Given the description of an element on the screen output the (x, y) to click on. 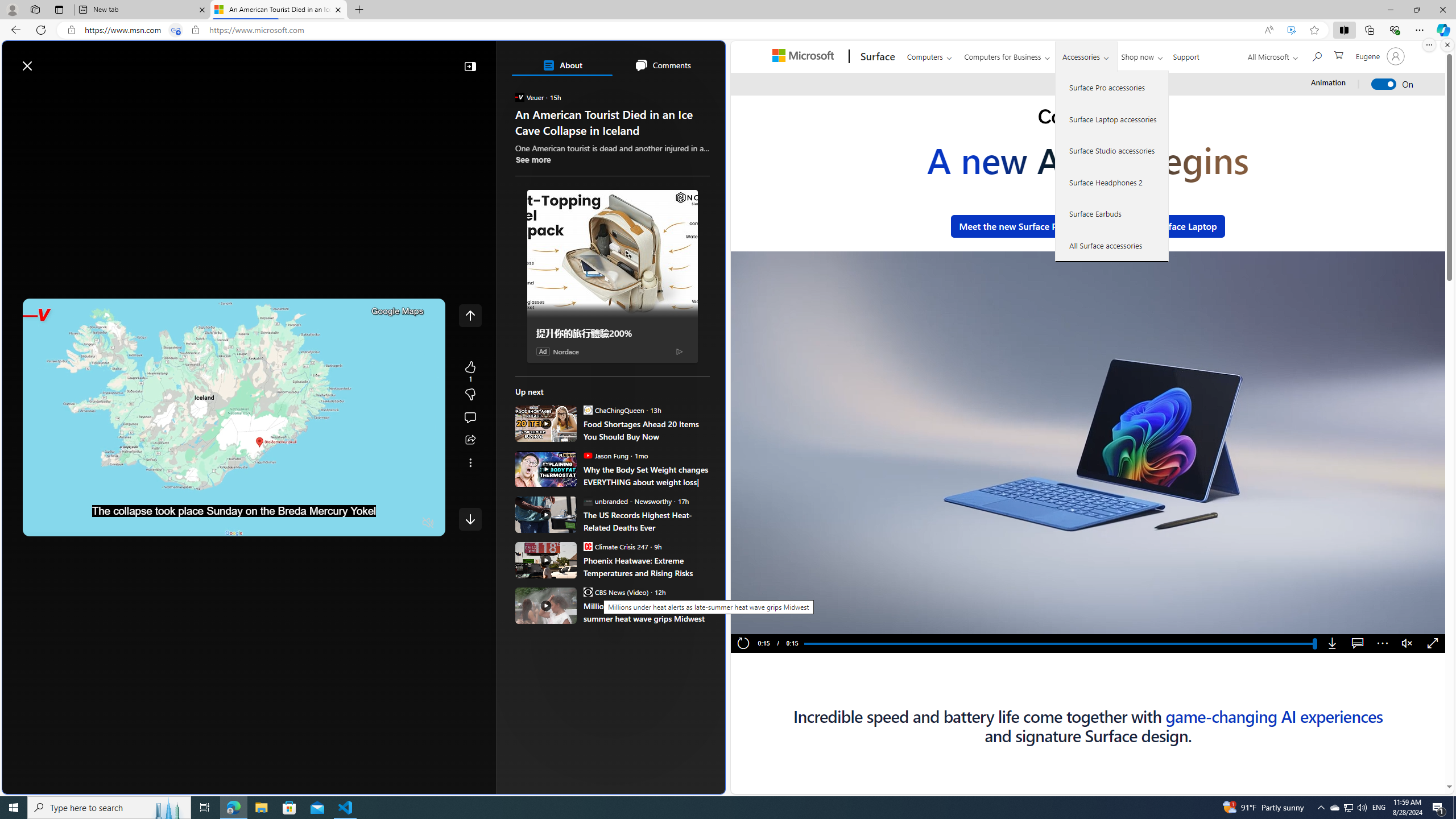
The US Records Highest Heat-Related Deaths Ever (646, 520)
Jason Fung (587, 455)
Meet the new Surface Laptop (1155, 225)
ChaChingQueen (587, 409)
Open settings (699, 60)
Surface Studio accessories (1112, 150)
The US Records Highest Heat-Related Deaths Ever (545, 514)
All Surface accessories (1112, 245)
Share this story (469, 440)
ChaChingQueen ChaChingQueen (613, 409)
Class: button-glyph (16, 92)
